Given the description of an element on the screen output the (x, y) to click on. 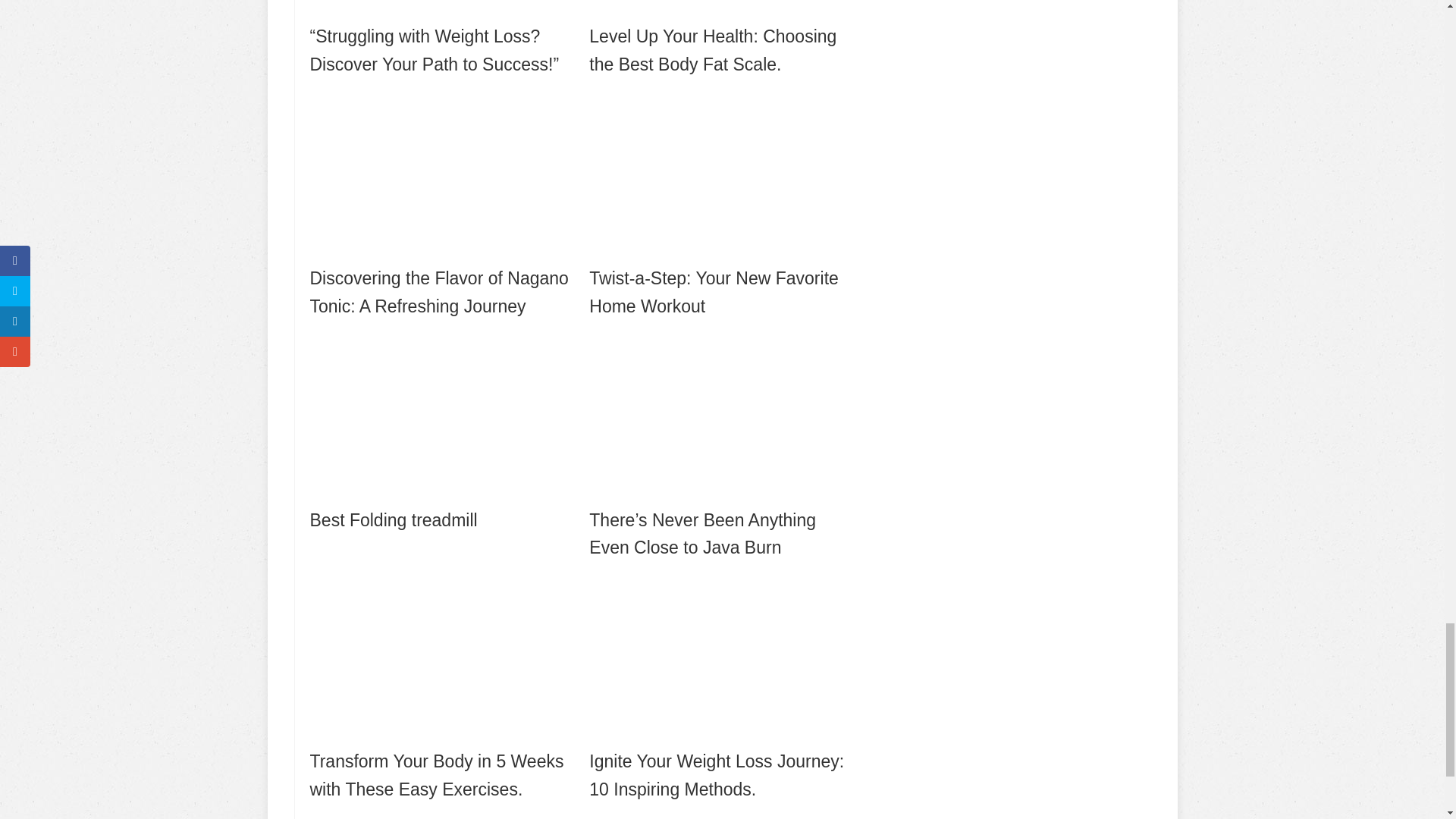
Ignite Your Weight Loss Journey: 10 Inspiring Methods. (723, 688)
Twist-a-Step: Your New Favorite Home Workout (723, 205)
Transform Your Body in 5 Weeks with These Easy Exercises. (443, 688)
Discovering the Flavor of Nagano Tonic: A Refreshing Journey (443, 205)
Best Folding treadmill (443, 433)
Level Up Your Health: Choosing the Best Body Fat Scale. (723, 39)
